Given the description of an element on the screen output the (x, y) to click on. 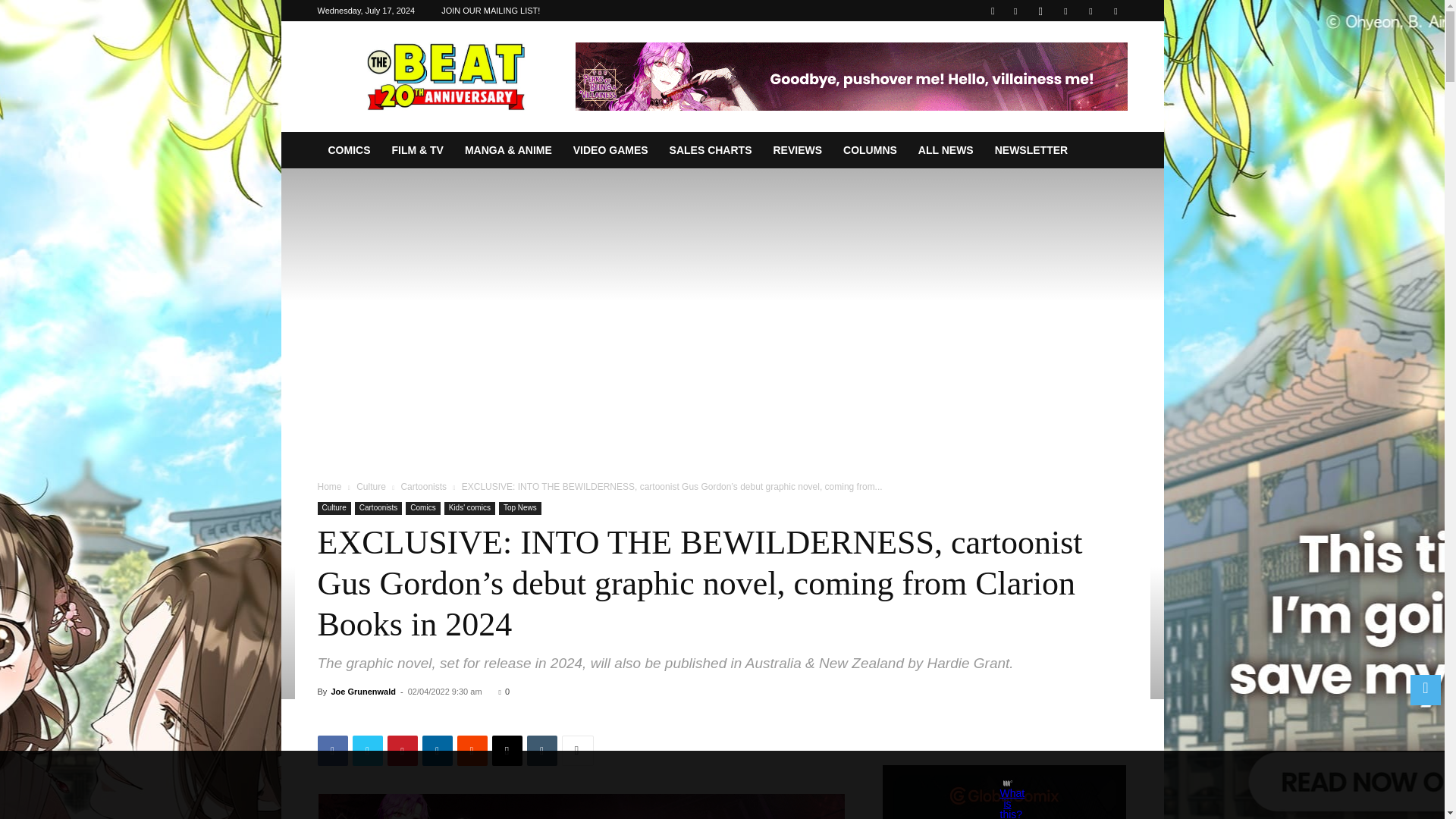
ALL NEWS (945, 149)
Facebook (332, 750)
View all posts in Cartoonists (423, 486)
Search (1085, 64)
COLUMNS (869, 149)
COMICS (348, 149)
Twitter (366, 750)
Instagram (1040, 10)
RSS (1065, 10)
NEWSLETTER (1031, 149)
SALES CHARTS (710, 149)
